Given the description of an element on the screen output the (x, y) to click on. 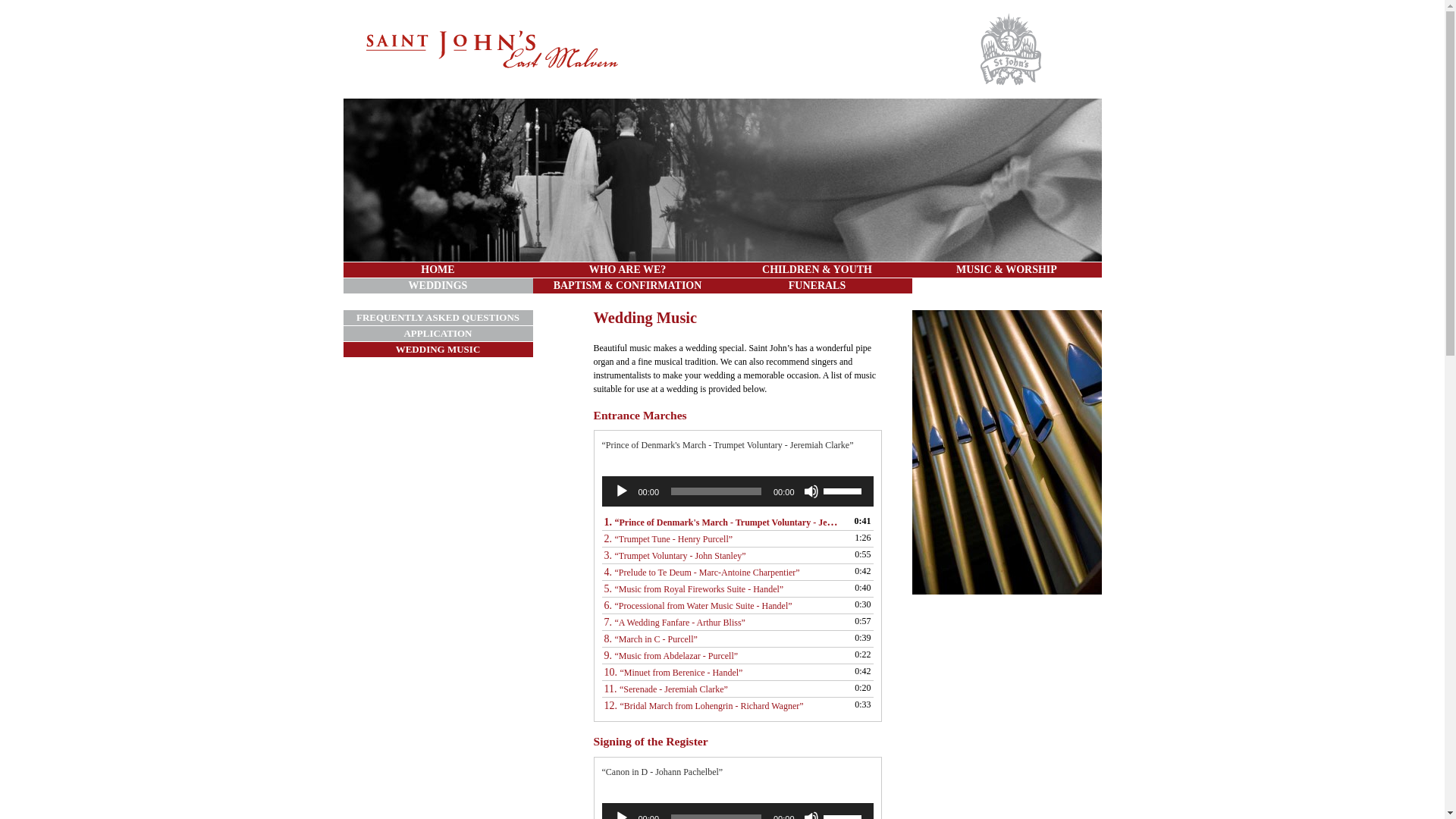
HOME Element type: text (437, 269)
BAPTISM & CONFIRMATION Element type: text (626, 285)
WHO ARE WE? Element type: text (626, 269)
WEDDINGS Element type: text (437, 285)
MUSIC & WORSHIP Element type: text (1006, 269)
APPLICATION Element type: text (437, 334)
Play Element type: hover (621, 490)
FUNERALS Element type: text (816, 285)
Organ-Pipes Element type: hover (1006, 598)
CHILDREN & YOUTH Element type: text (816, 269)
Mute Element type: hover (811, 490)
WEDDING MUSIC Element type: text (437, 349)
Use Up/Down Arrow keys to increase or decrease volume. Element type: text (844, 489)
FREQUENTLY ASKED QUESTIONS Element type: text (437, 318)
